Given the description of an element on the screen output the (x, y) to click on. 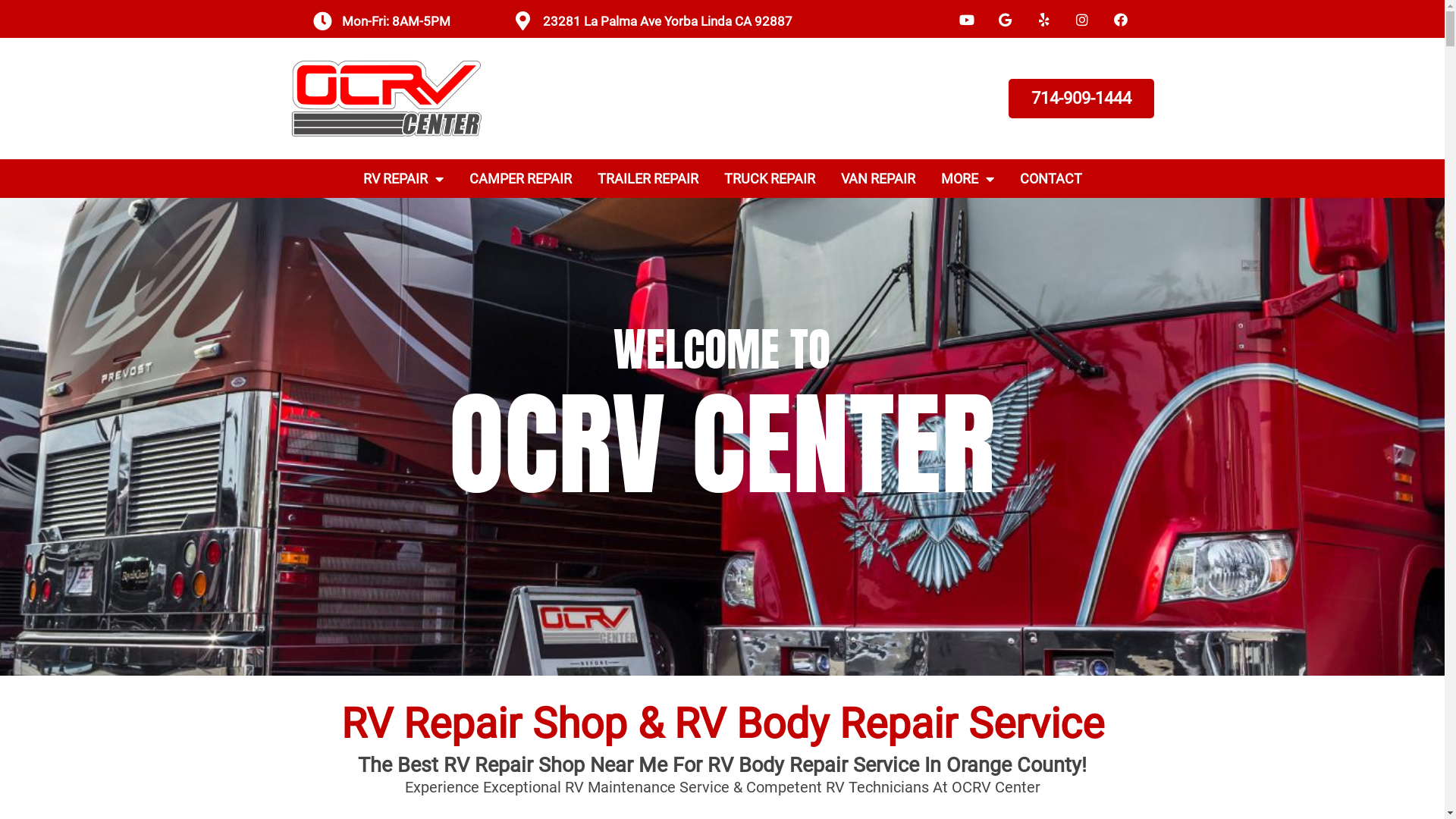
CAMPER REPAIR Element type: text (520, 178)
MORE Element type: text (967, 178)
TRAILER REPAIR Element type: text (646, 178)
Google Element type: text (1005, 19)
Mon-Fri: 8AM-5PM Element type: text (396, 20)
Facebook Element type: text (1120, 19)
Yelp Element type: text (1044, 19)
714-909-1444 Element type: text (1081, 98)
Instagram Element type: text (1081, 19)
RV REPAIR Element type: text (403, 178)
TRUCK REPAIR Element type: text (769, 178)
VAN REPAIR Element type: text (878, 178)
Youtube Element type: text (967, 19)
23281 La Palma Ave Yorba Linda CA 92887 Element type: text (667, 20)
CONTACT Element type: text (1051, 178)
